Given the description of an element on the screen output the (x, y) to click on. 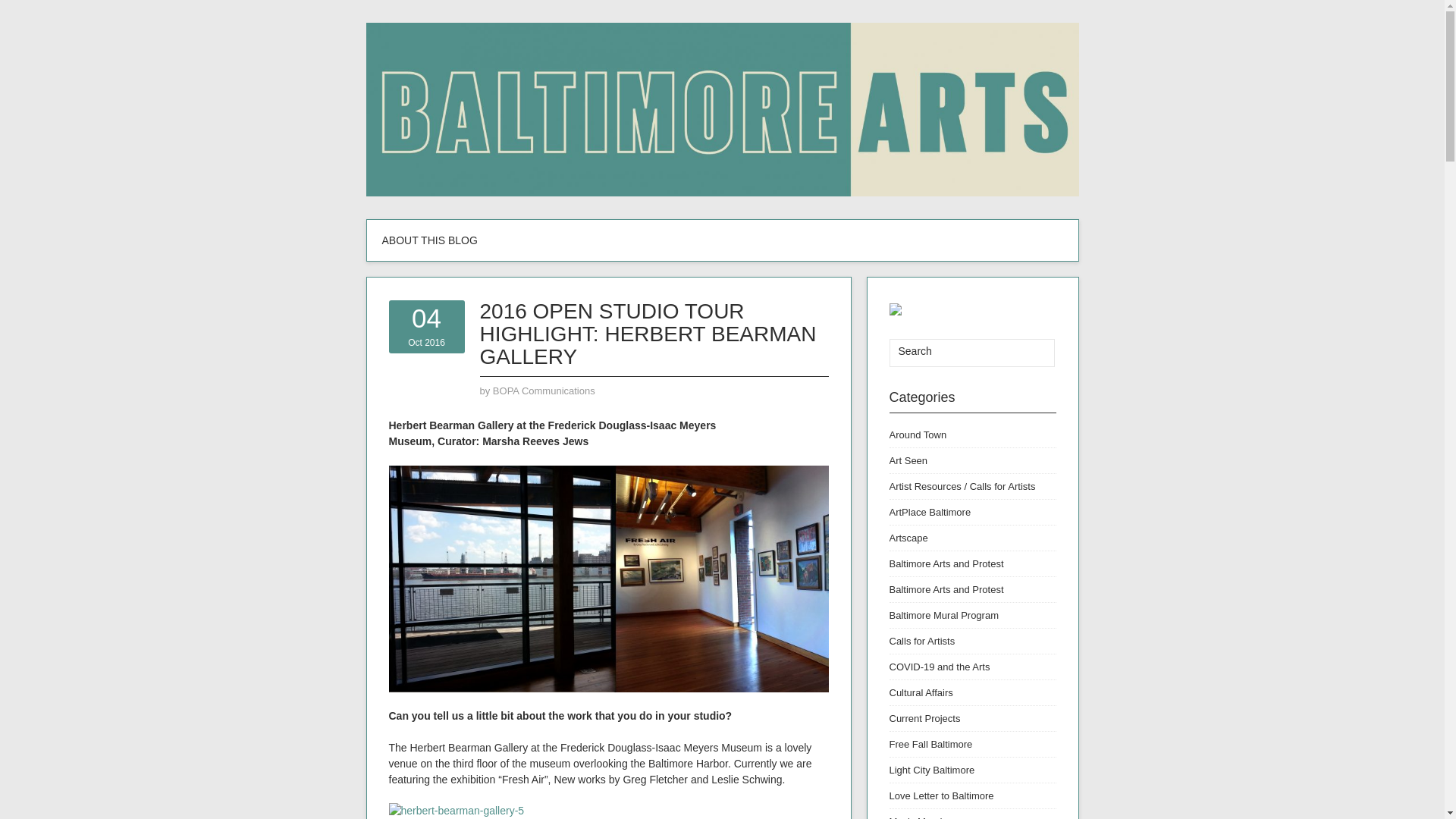
Search (1032, 352)
ABOUT THIS BLOG (429, 240)
Current Projects (923, 717)
Music Monday (920, 817)
Calls for Artists (921, 641)
Baltimore Arts and Protest (945, 563)
Around Town (917, 434)
Art Seen (907, 460)
October 4, 2016 12:45 pm (426, 326)
Baltimore Mural Program (943, 614)
